Given the description of an element on the screen output the (x, y) to click on. 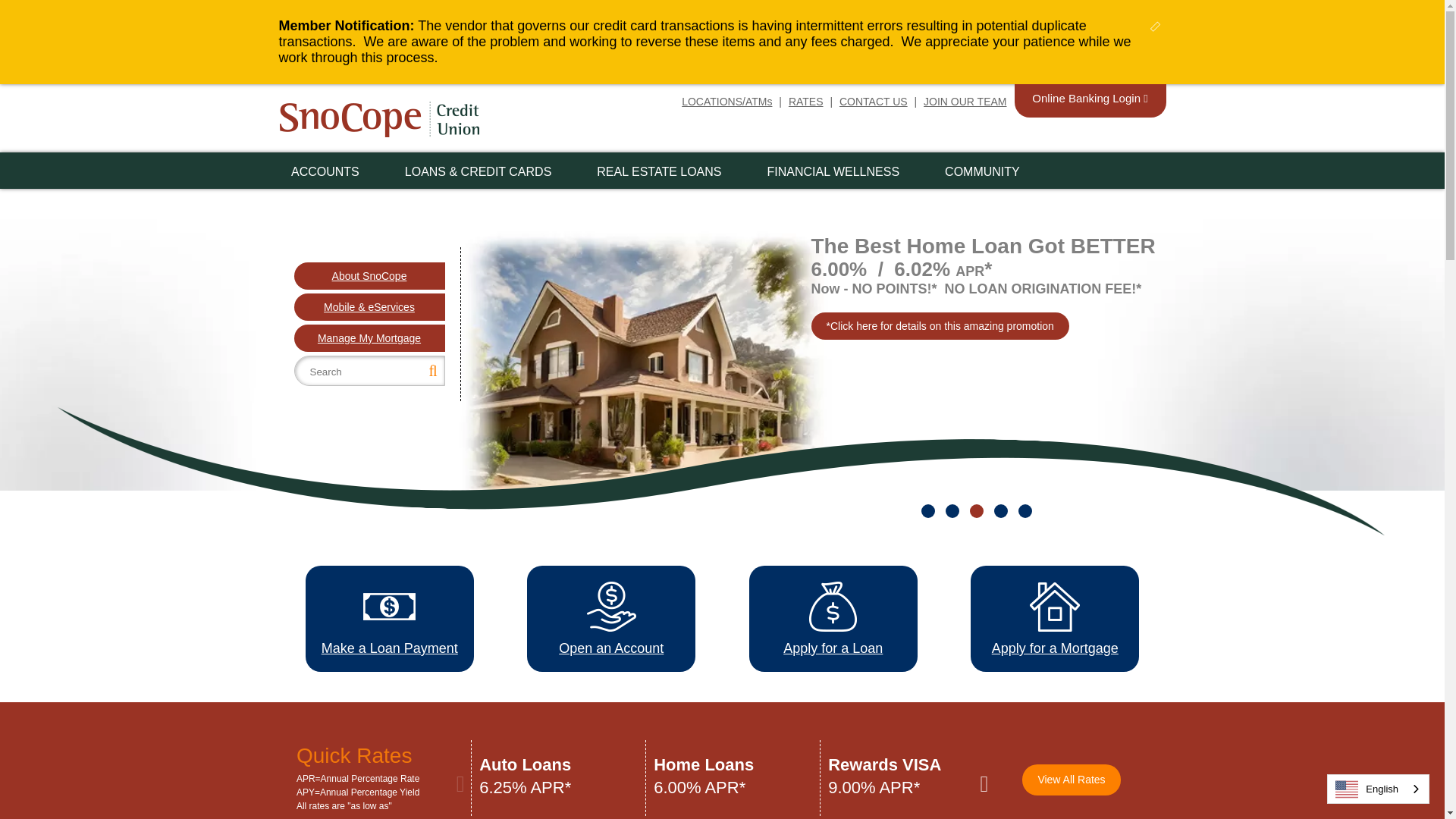
Make a Loan Payment (388, 606)
CONTACT US (873, 101)
Apply for a Loan (832, 606)
Apply for a Mortgage (1055, 606)
RATES (806, 101)
Search (432, 370)
Open an Account with SnoCope Credit Union (611, 606)
JOIN OUR TEAM (964, 101)
